Given the description of an element on the screen output the (x, y) to click on. 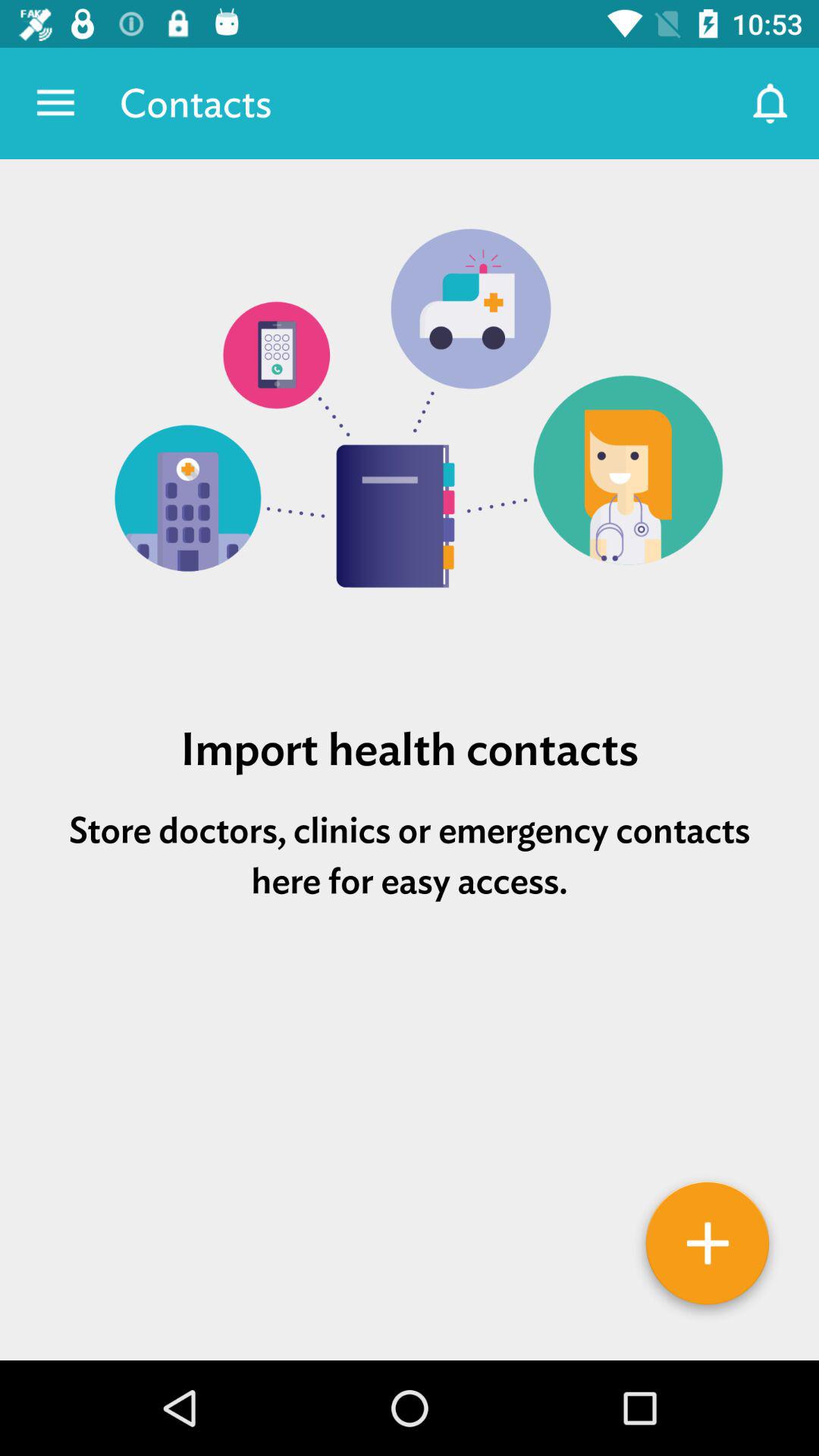
turn off icon to the left of the contacts icon (55, 103)
